Given the description of an element on the screen output the (x, y) to click on. 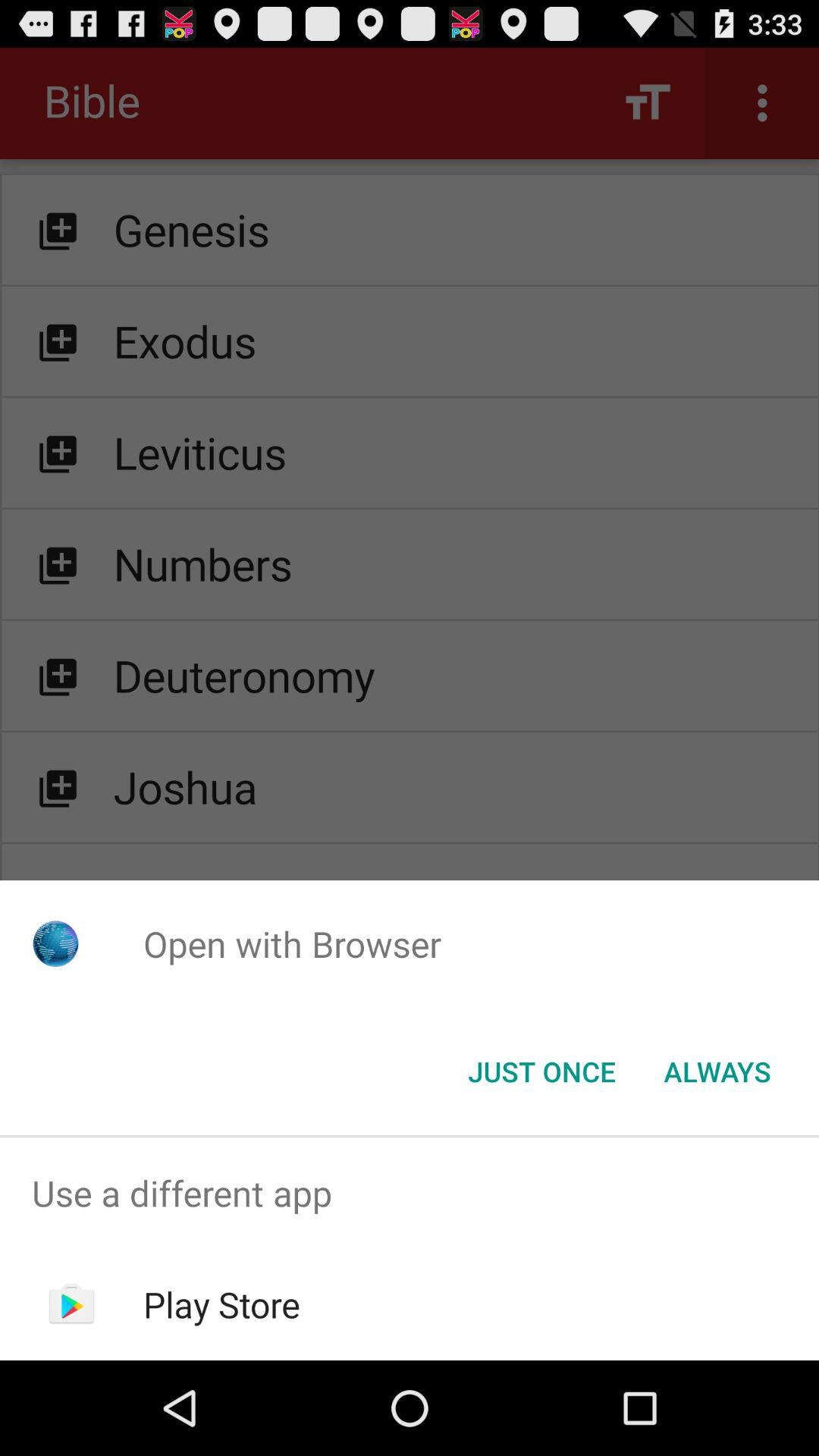
tap button to the left of always button (541, 1071)
